Given the description of an element on the screen output the (x, y) to click on. 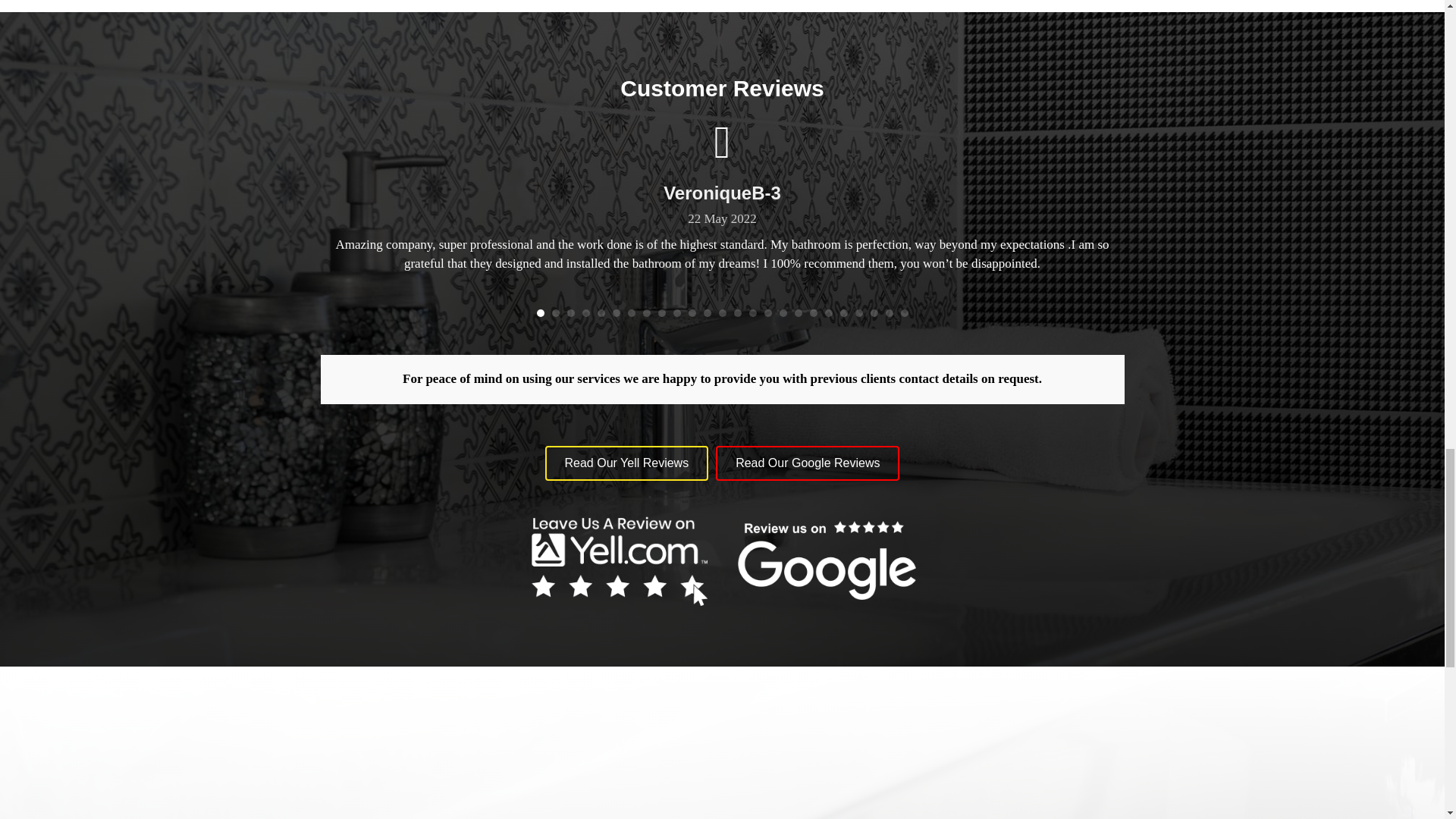
24 (889, 312)
21 (843, 312)
1 (540, 312)
11 (691, 312)
17 (782, 312)
8 (646, 312)
19 (812, 312)
Read Our Google Reviews (807, 462)
4 (585, 312)
9 (661, 312)
google-reviews white (825, 559)
16 (767, 312)
13 (722, 312)
12 (707, 312)
10 (676, 312)
